Given the description of an element on the screen output the (x, y) to click on. 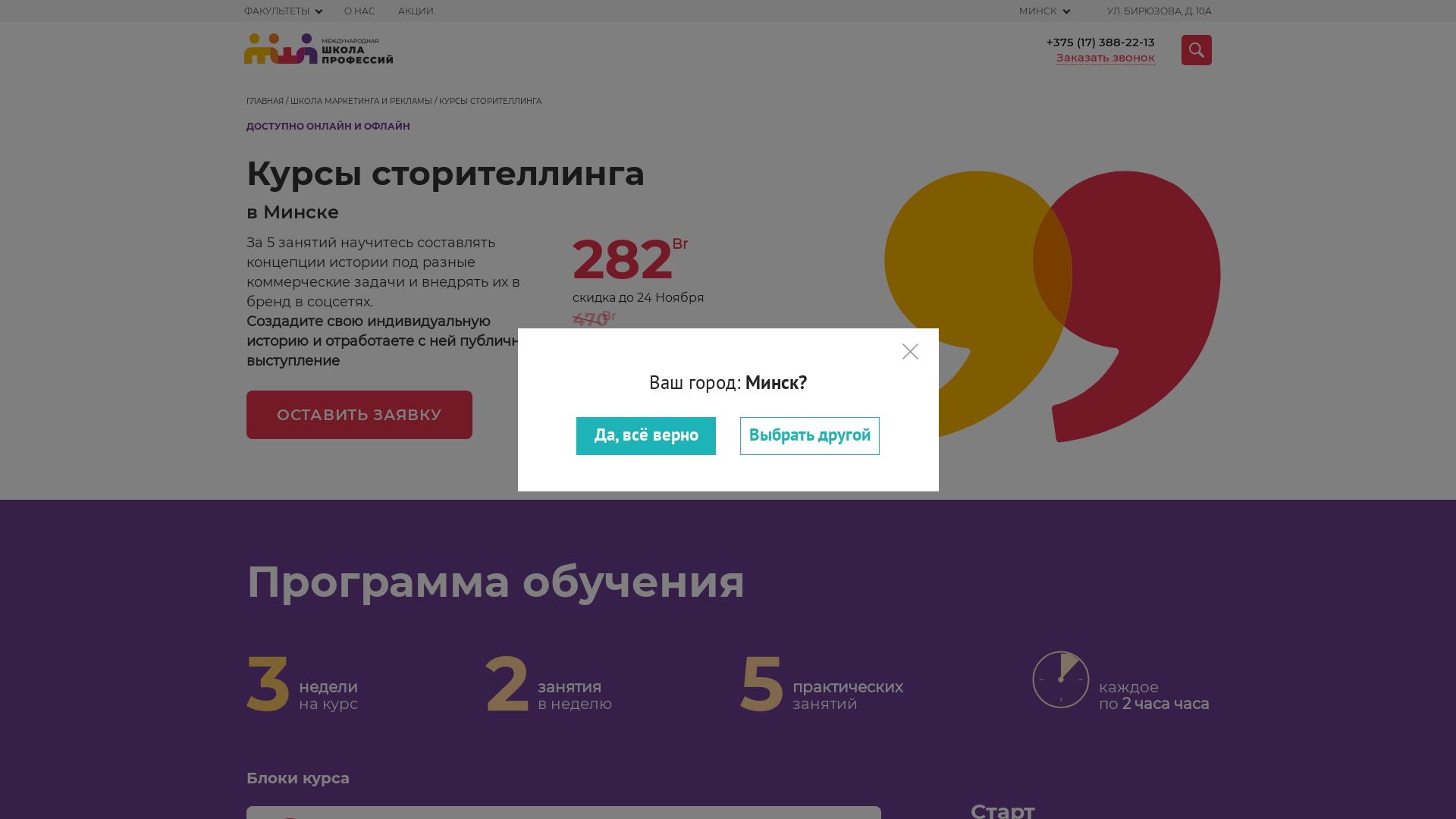
+375 (17) 388-22-13 Element type: text (1100, 42)
